Given the description of an element on the screen output the (x, y) to click on. 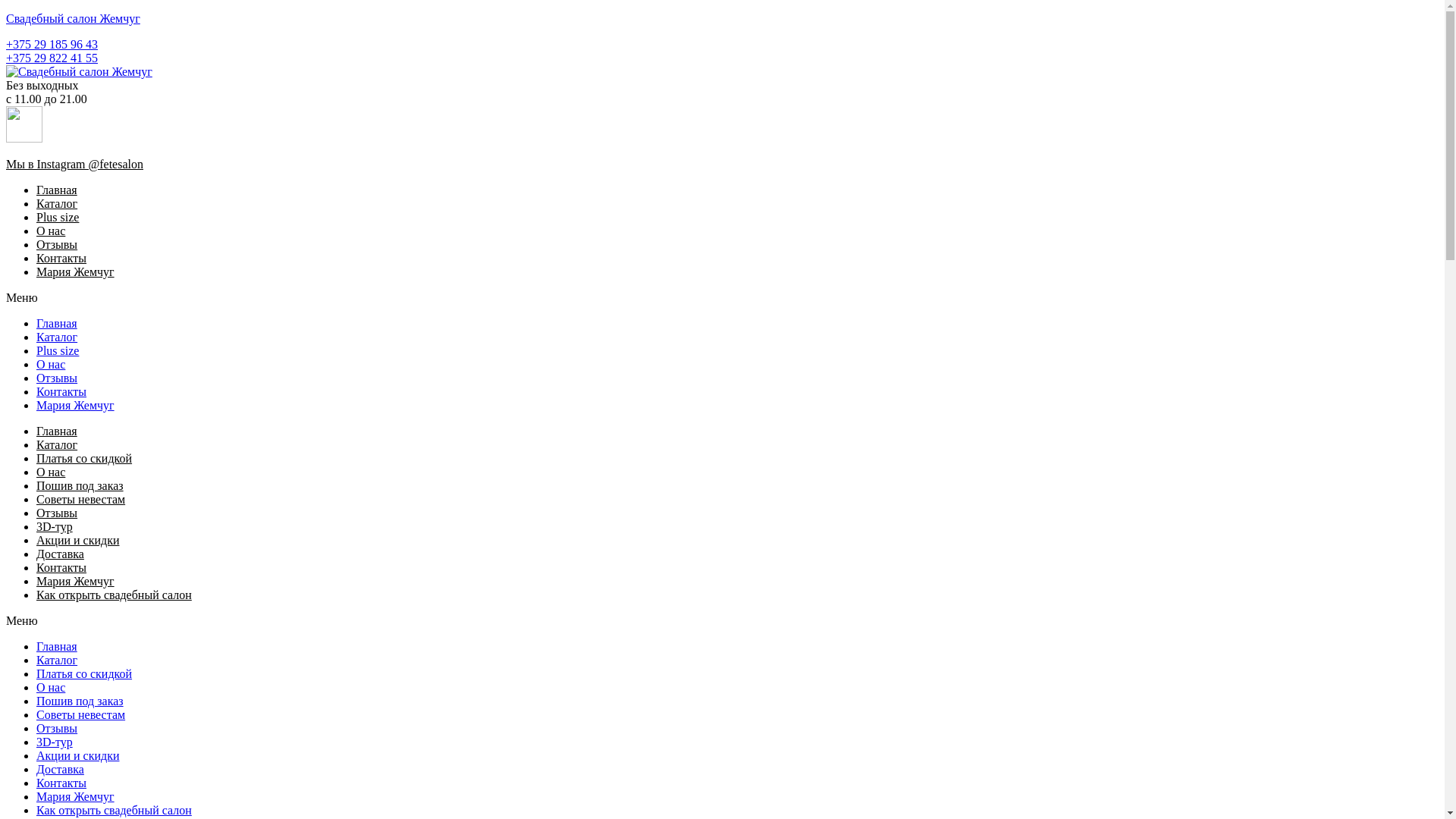
+375 29 822 41 55 Element type: text (51, 57)
+375 29 185 96 43 Element type: text (51, 43)
Plus size Element type: text (57, 216)
Plus size Element type: text (57, 350)
